Given the description of an element on the screen output the (x, y) to click on. 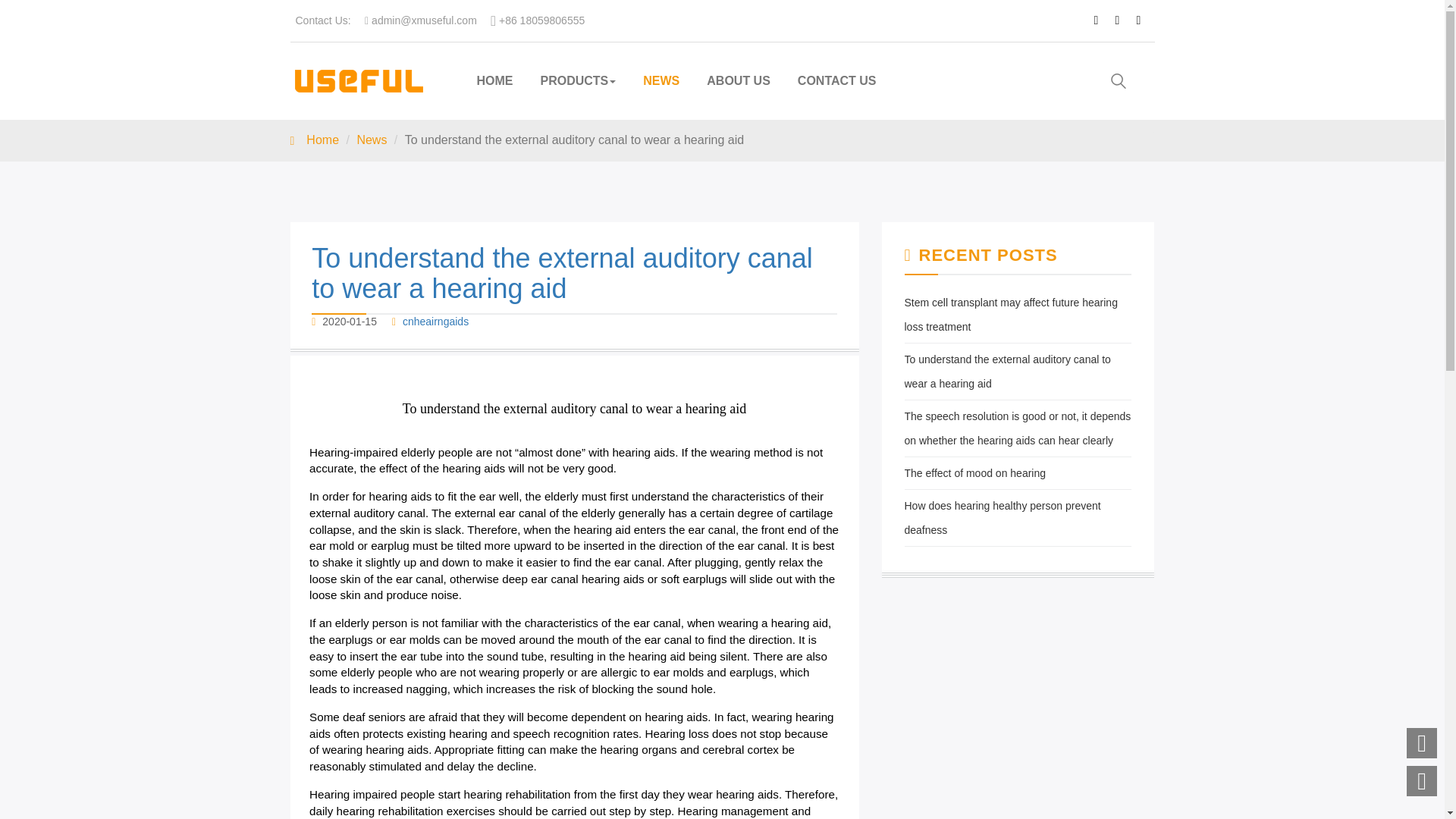
HOME (494, 71)
ABOUT US (738, 71)
cnheairngaids (435, 321)
The effect of mood on hearing (974, 472)
How does hearing healthy person prevent deafness (1002, 517)
CONTACT US (836, 71)
Facebook (1100, 19)
Instagram (1143, 19)
Twitter (1122, 19)
News (371, 139)
PRODUCTS (576, 71)
